Given the description of an element on the screen output the (x, y) to click on. 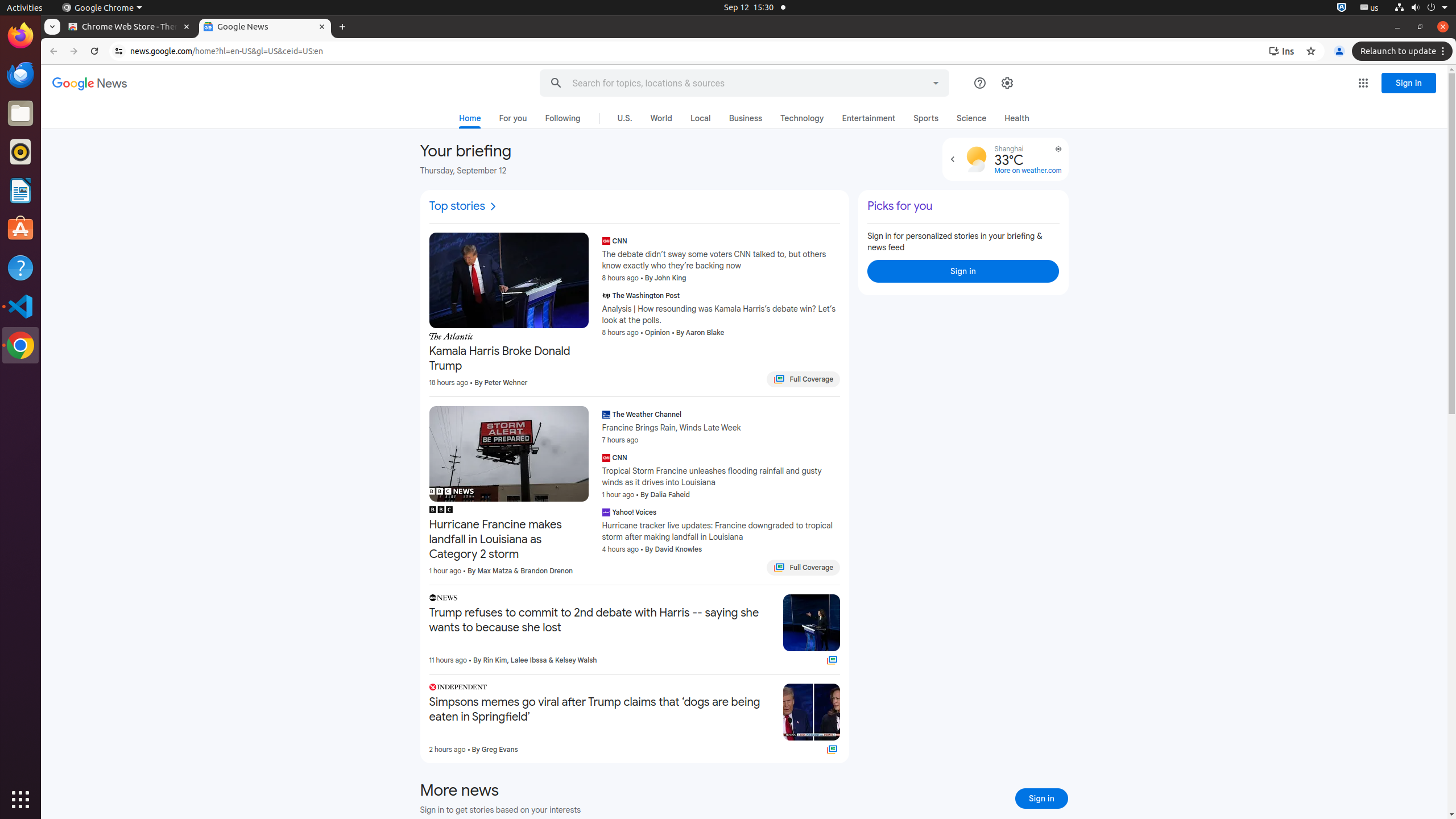
Top stories Element type: link (463, 206)
For you Element type: menu-item (512, 118)
More on weather.com Element type: link (1027, 170)
Thunderbird Mail Element type: push-button (20, 74)
More - Tropical Storm Francine unleashes flooding rainfall and gusty winds as it drives into Louisiana Element type: push-button (836, 458)
